Given the description of an element on the screen output the (x, y) to click on. 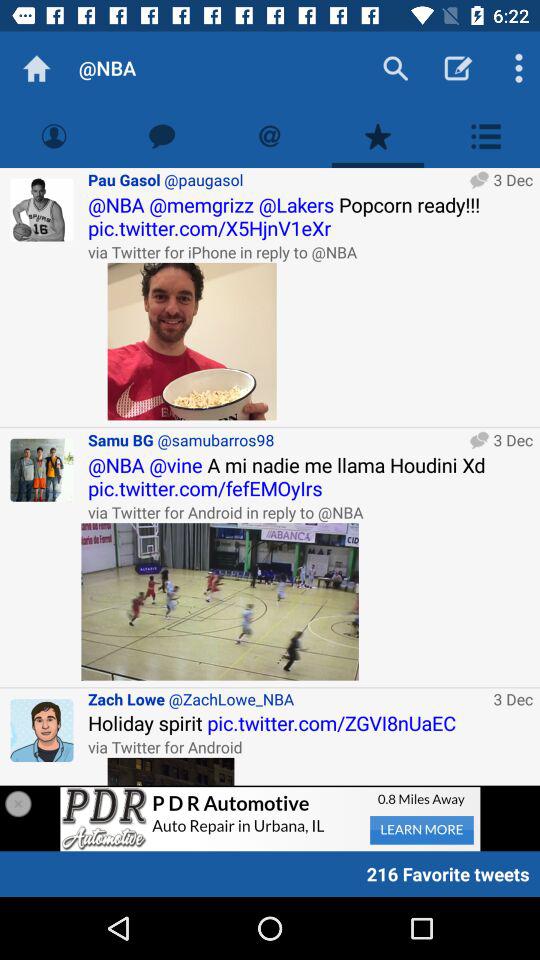
select item above nba vine a item (275, 439)
